Given the description of an element on the screen output the (x, y) to click on. 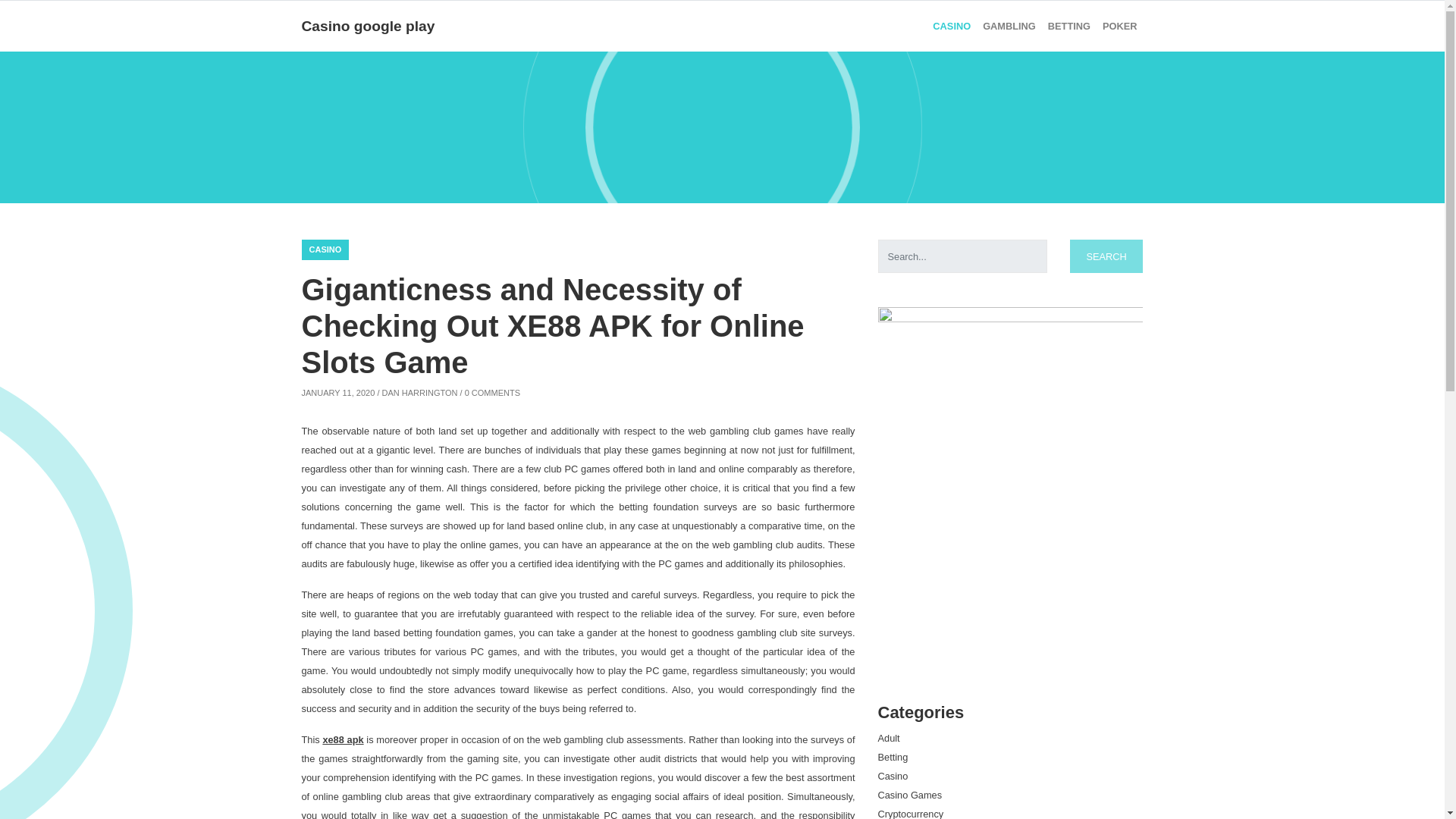
POKER (1119, 26)
GAMBLING (1009, 26)
Poker (1119, 26)
BETTING (1069, 26)
Gambling (1009, 26)
Casino Games (909, 794)
View all posts by Dan Harrington (419, 392)
xe88 apk (341, 739)
Cryptocurrency (910, 813)
Casino google play (368, 25)
